Given the description of an element on the screen output the (x, y) to click on. 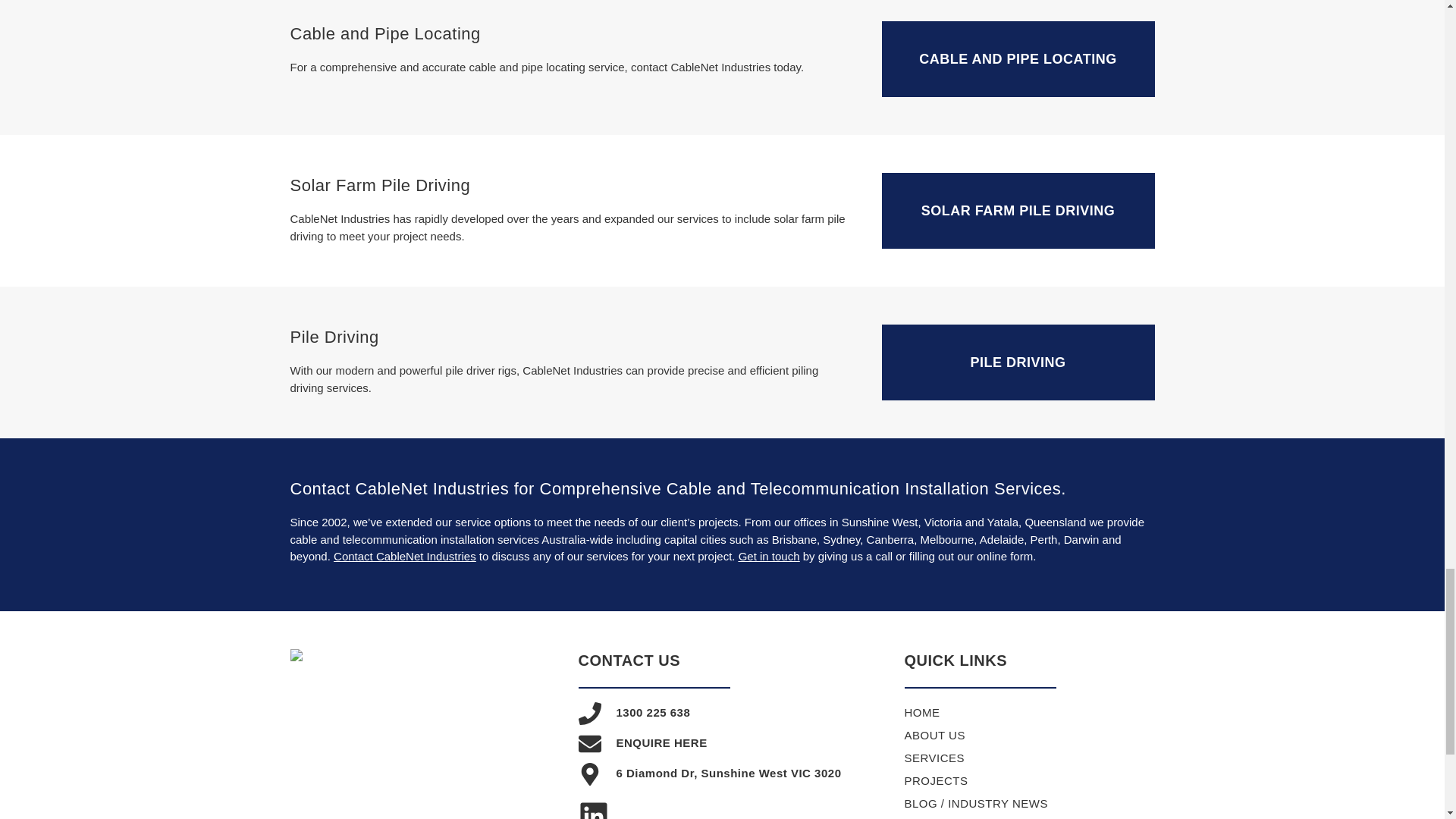
CABLE AND PIPE LOCATING (1017, 59)
